Given the description of an element on the screen output the (x, y) to click on. 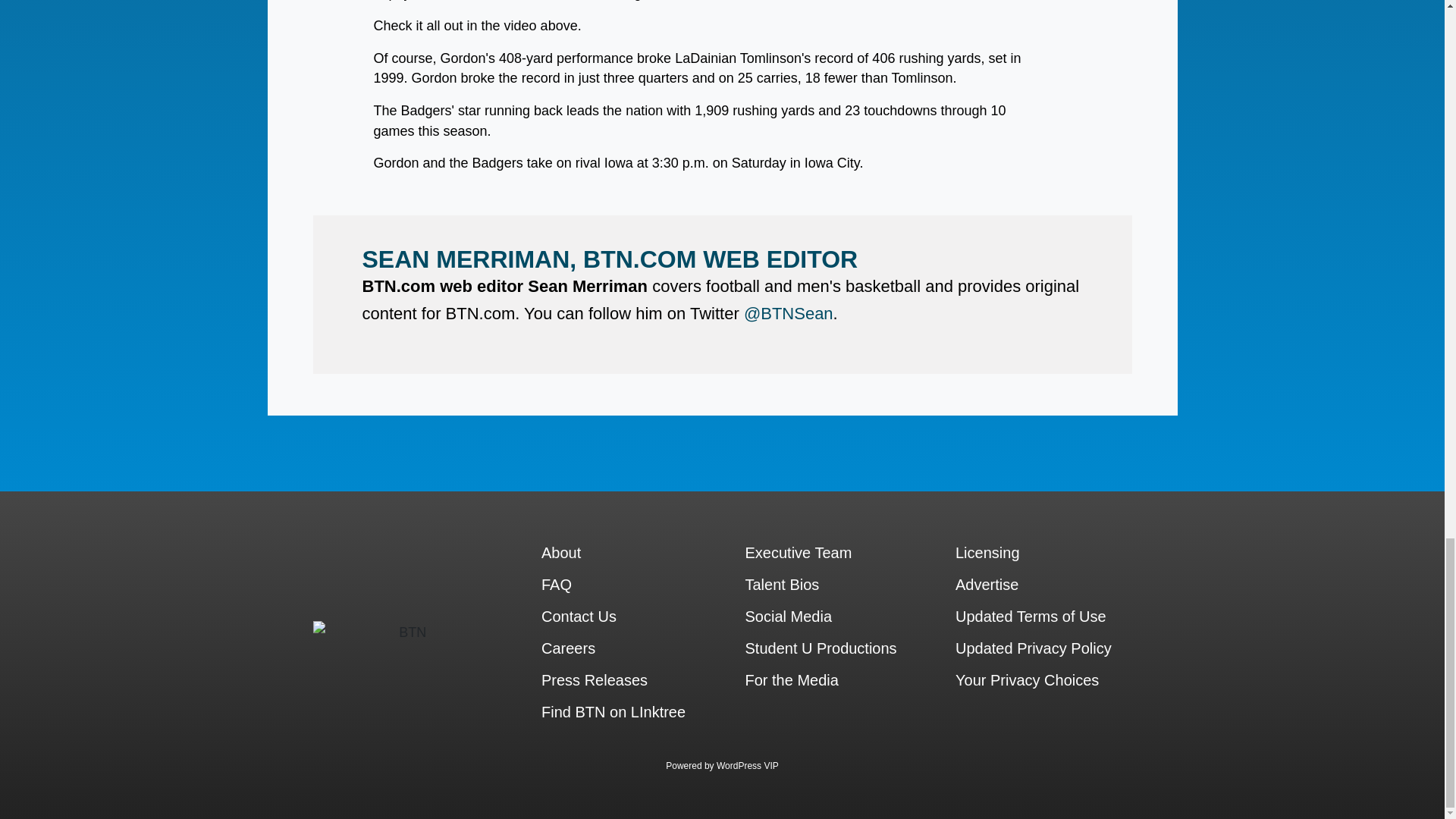
icon-base-livebig-mobile (45, 213)
About (327, 267)
FAQ (1012, 290)
Licensing (327, 313)
Careers (327, 358)
For the Media (327, 335)
icon--base-tv-mobile (45, 123)
BTN on Linktree (327, 381)
Social Media (1012, 267)
SEARCH (818, 253)
Icon-base-btn-plus-mobile (45, 168)
Contact Us (327, 290)
Ad Sales (1012, 313)
LIVEBIG (98, 214)
Sign up and watch now. (802, 66)
